Given the description of an element on the screen output the (x, y) to click on. 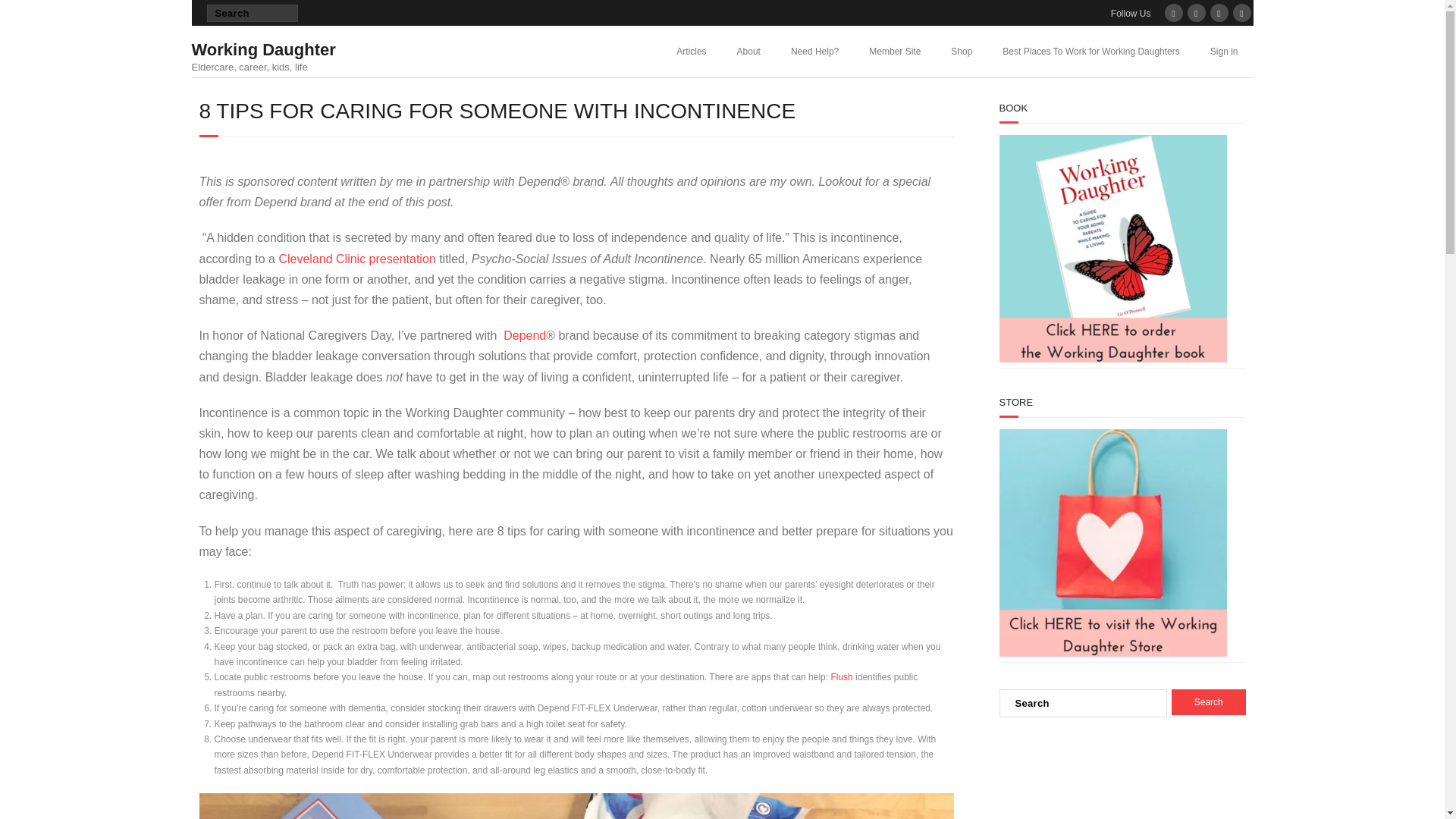
About (749, 50)
Working Daughter (262, 49)
Articles (690, 50)
Search (25, 13)
Search (1209, 701)
Search (1209, 701)
Need Help? (262, 52)
